Given the description of an element on the screen output the (x, y) to click on. 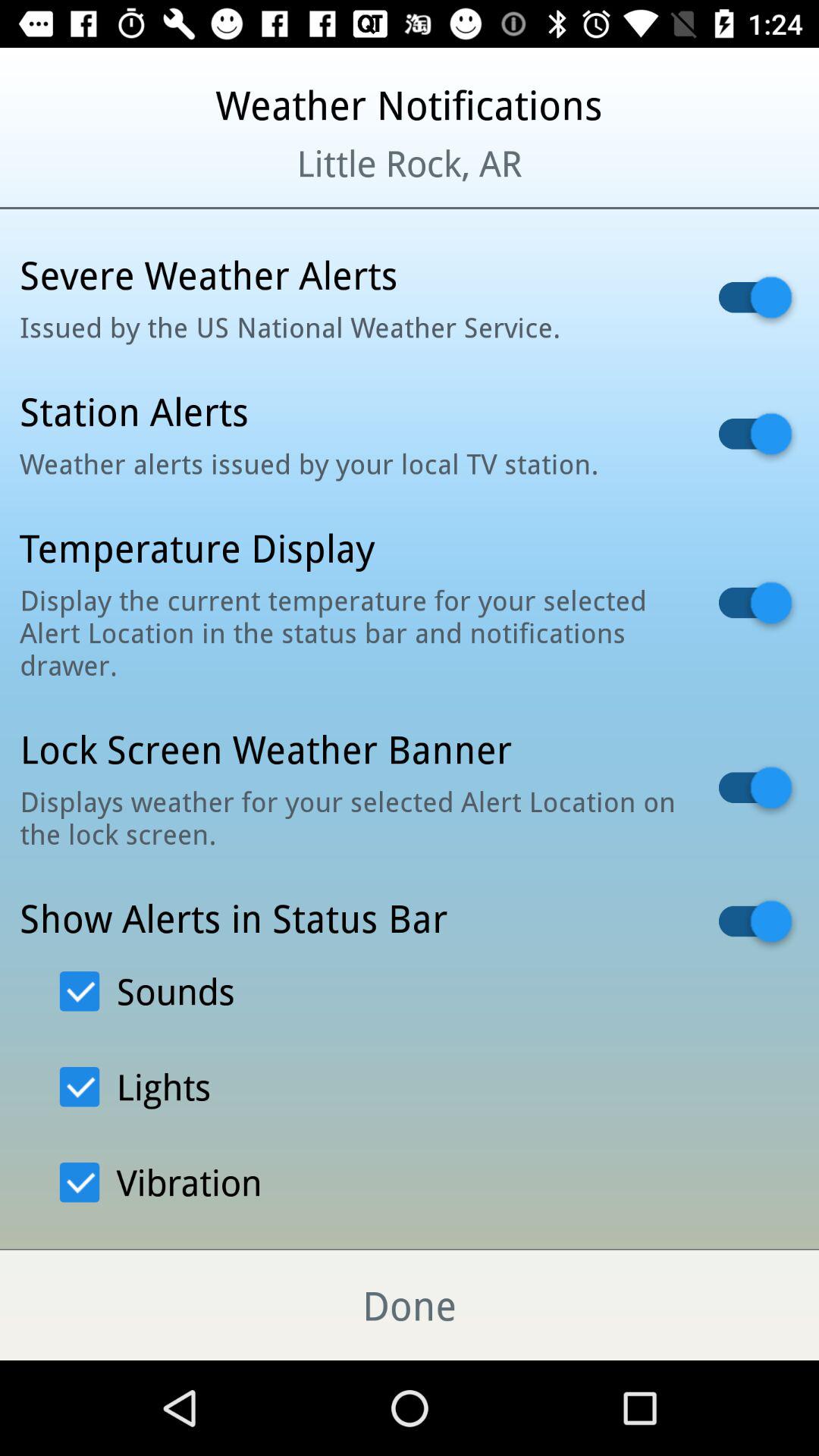
turn on the displays weather for item (349, 817)
